Given the description of an element on the screen output the (x, y) to click on. 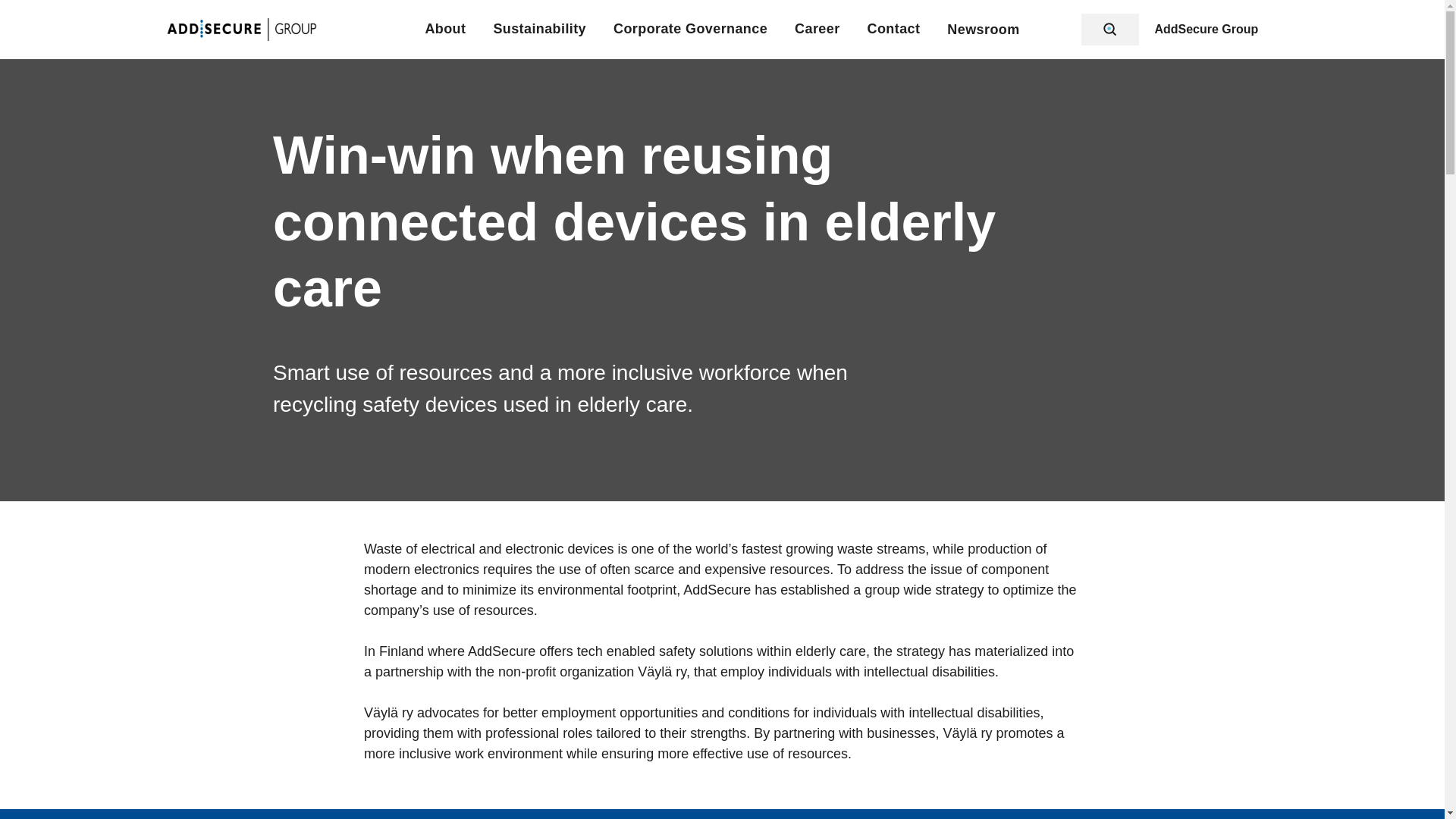
Contact (893, 29)
Career (817, 29)
Sustainability (539, 29)
AddSecure Group (1208, 29)
Corporate Governance (689, 29)
Newsroom (983, 29)
About (445, 29)
